Given the description of an element on the screen output the (x, y) to click on. 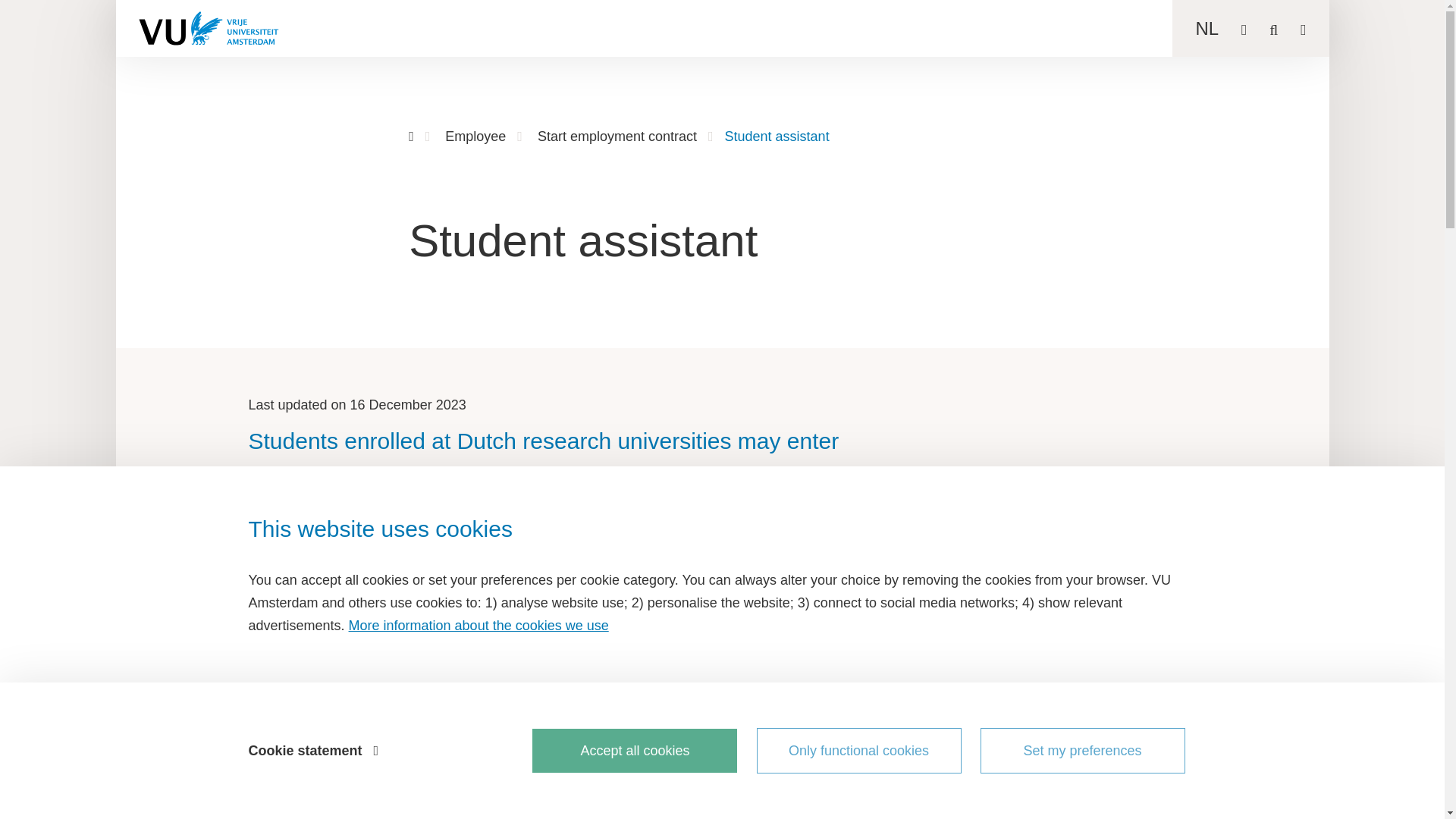
Start employment contract (617, 136)
More information about the cookies we use (478, 625)
Accept all cookies (634, 750)
Employee (475, 136)
Only functional cookies (858, 750)
Set my preferences (1082, 750)
NL (1206, 28)
